Given the description of an element on the screen output the (x, y) to click on. 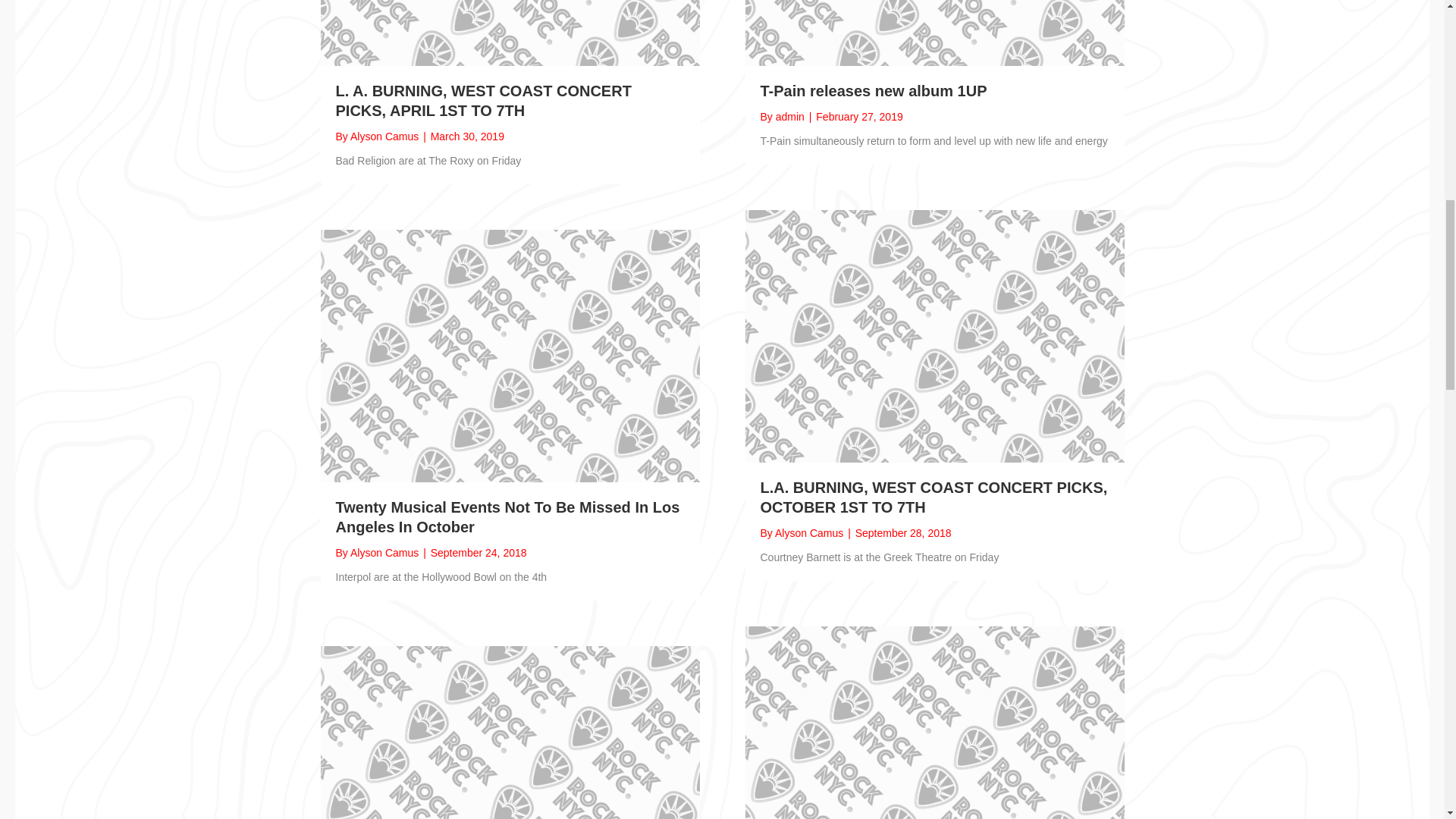
L.A. BURNING, WEST COAST CONCERT PICKS, OCTOBER 1ST TO 7TH (934, 335)
L. A. BURNING, WEST COAST CONCERT PICKS, APRIL 1ST TO 7TH (482, 100)
L.A. BURNING, WEST COAST CONCERT PICKS, OCTOBER 1ST TO 7TH (933, 497)
admin (790, 116)
L. A. BURNING, WEST COAST CONCERT PICKS, APRIL 1ST TO 7TH (482, 100)
T-Pain releases new album 1UP (873, 90)
Alyson Camus (384, 136)
L.A. BURNING, WEST COAST CONCERT PICKS, OCTOBER 1ST TO 7TH (933, 497)
Alyson Camus (808, 532)
T-Pain releases new album 1UP (873, 90)
Alyson Camus (384, 552)
